Given the description of an element on the screen output the (x, y) to click on. 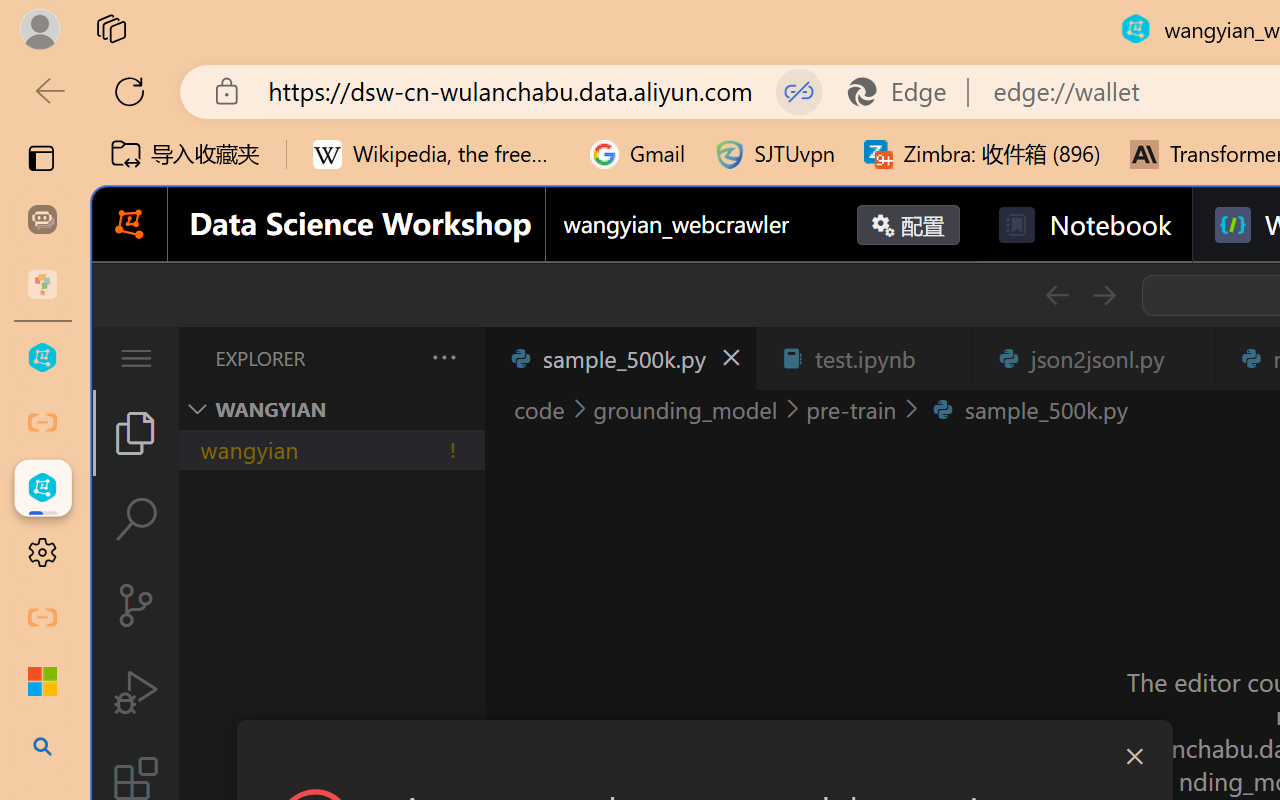
Explorer actions (391, 358)
Go Back (Alt+LeftArrow) (1055, 295)
Class: actions-container (703, 756)
Tab actions (1188, 358)
Microsoft security help and learning (42, 681)
Go Forward (Alt+RightArrow) (1102, 295)
test.ipynb (864, 358)
wangyian_webcrawler - DSW (42, 487)
json2jsonl.py (1092, 358)
